Given the description of an element on the screen output the (x, y) to click on. 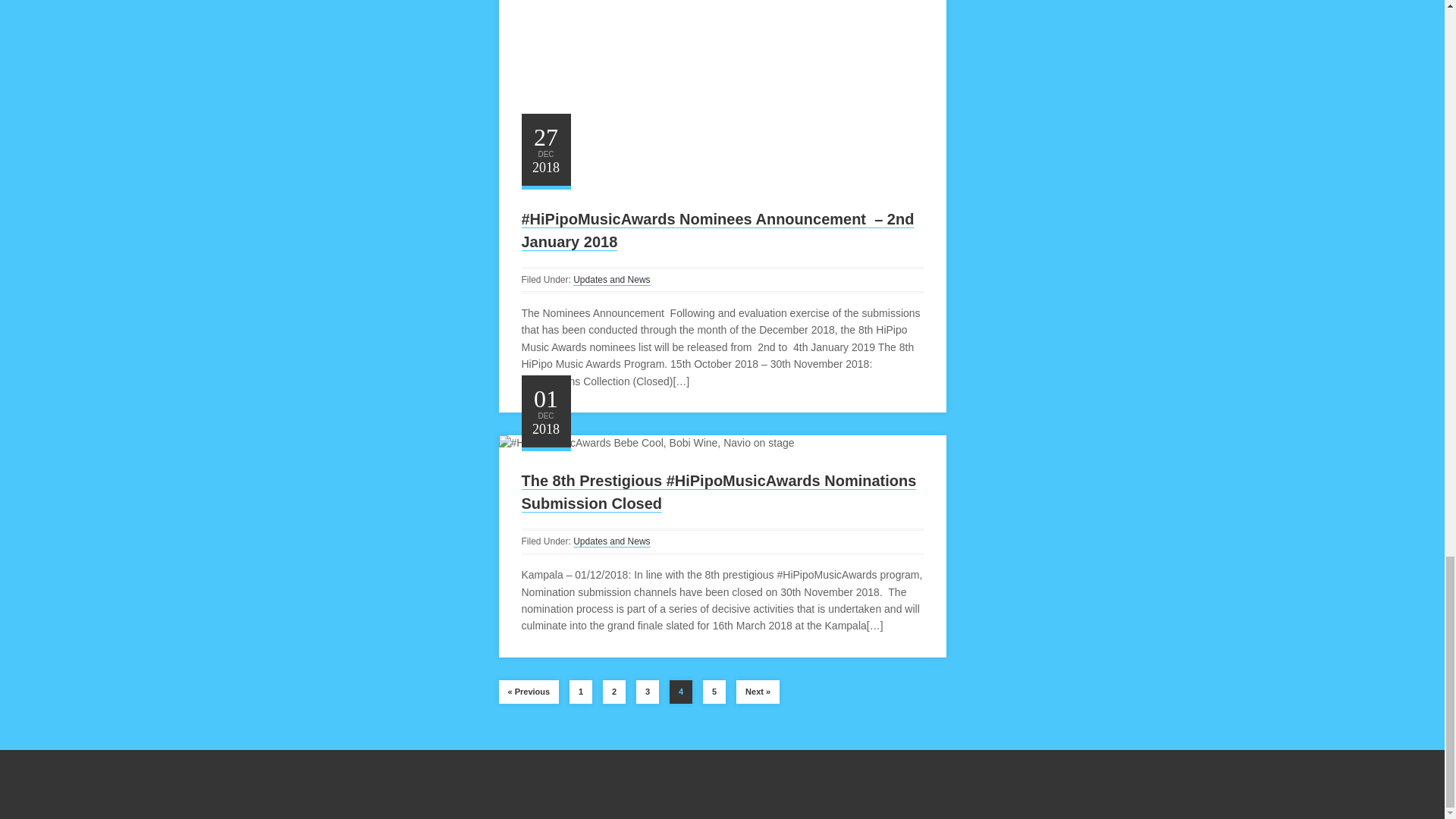
Updates and News (611, 541)
Updates and News (611, 279)
